Given the description of an element on the screen output the (x, y) to click on. 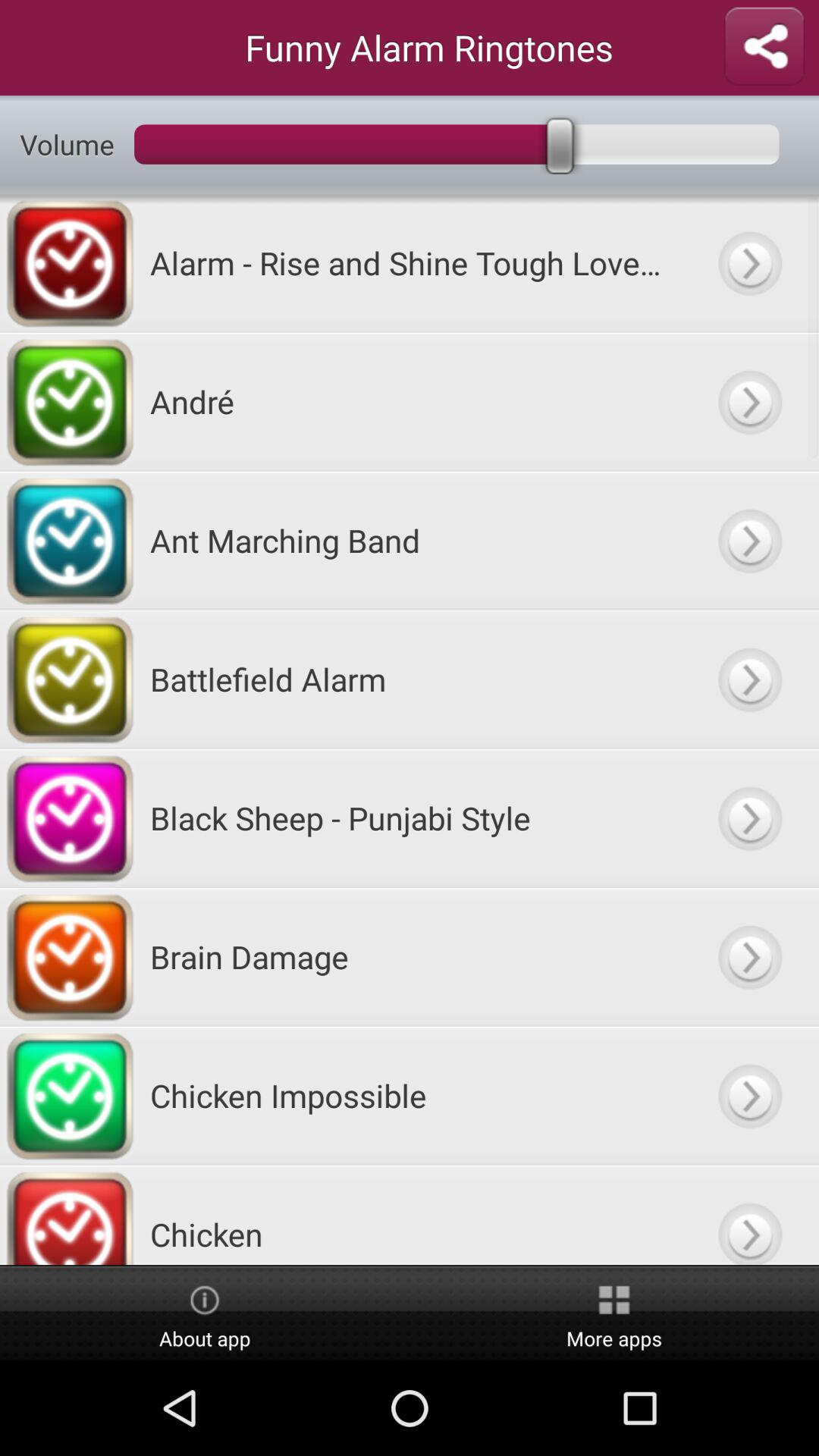
next switch (749, 262)
